Given the description of an element on the screen output the (x, y) to click on. 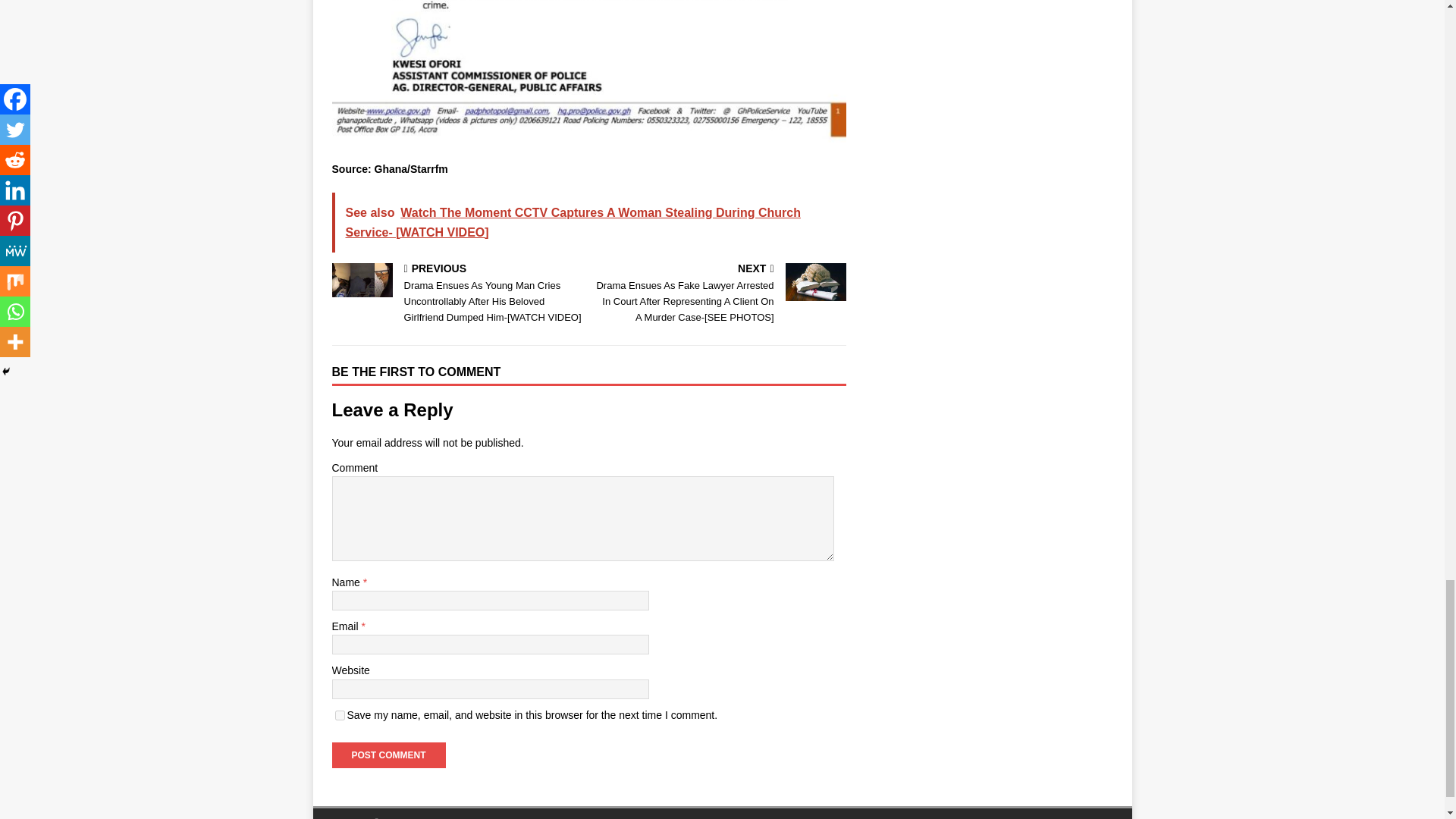
Post Comment (388, 755)
yes (339, 715)
Post Comment (388, 755)
